Given the description of an element on the screen output the (x, y) to click on. 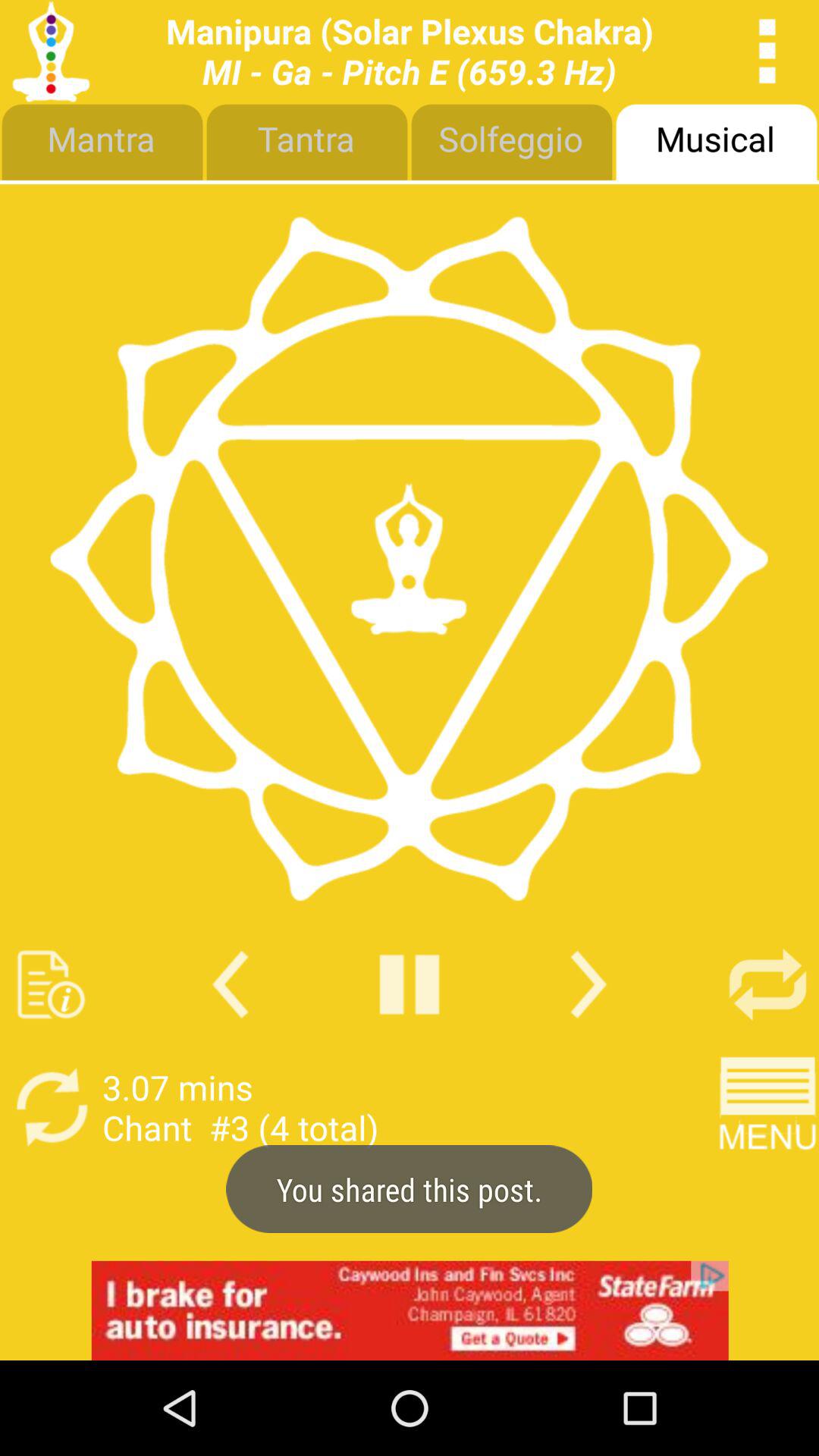
go to previous (230, 984)
